Given the description of an element on the screen output the (x, y) to click on. 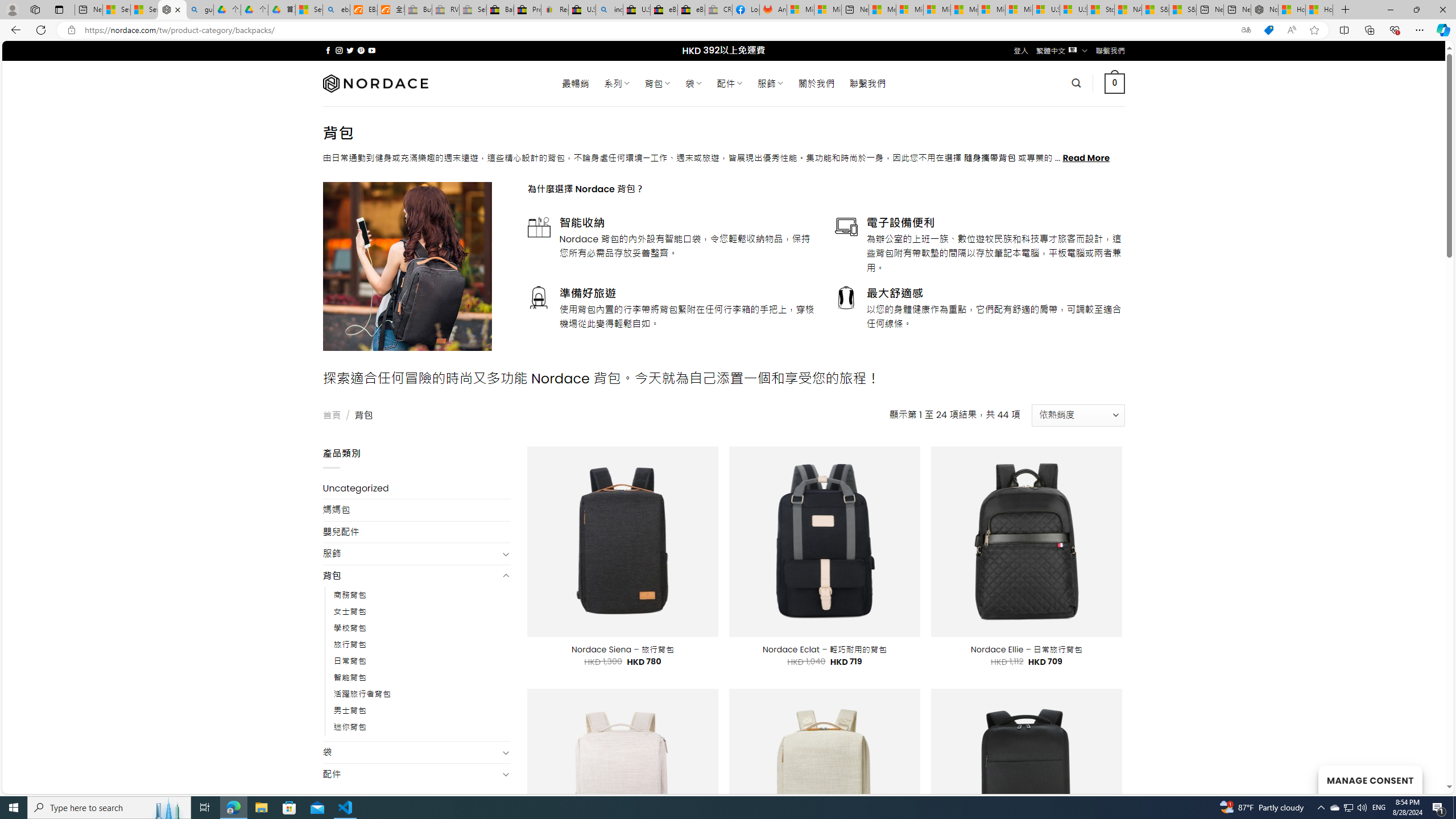
Follow on Facebook (327, 50)
Microsoft account | Home (936, 9)
MANAGE CONSENT (1369, 779)
Buy Auto Parts & Accessories | eBay - Sleeping (418, 9)
Press Room - eBay Inc. (527, 9)
guge yunpan - Search (200, 9)
